Given the description of an element on the screen output the (x, y) to click on. 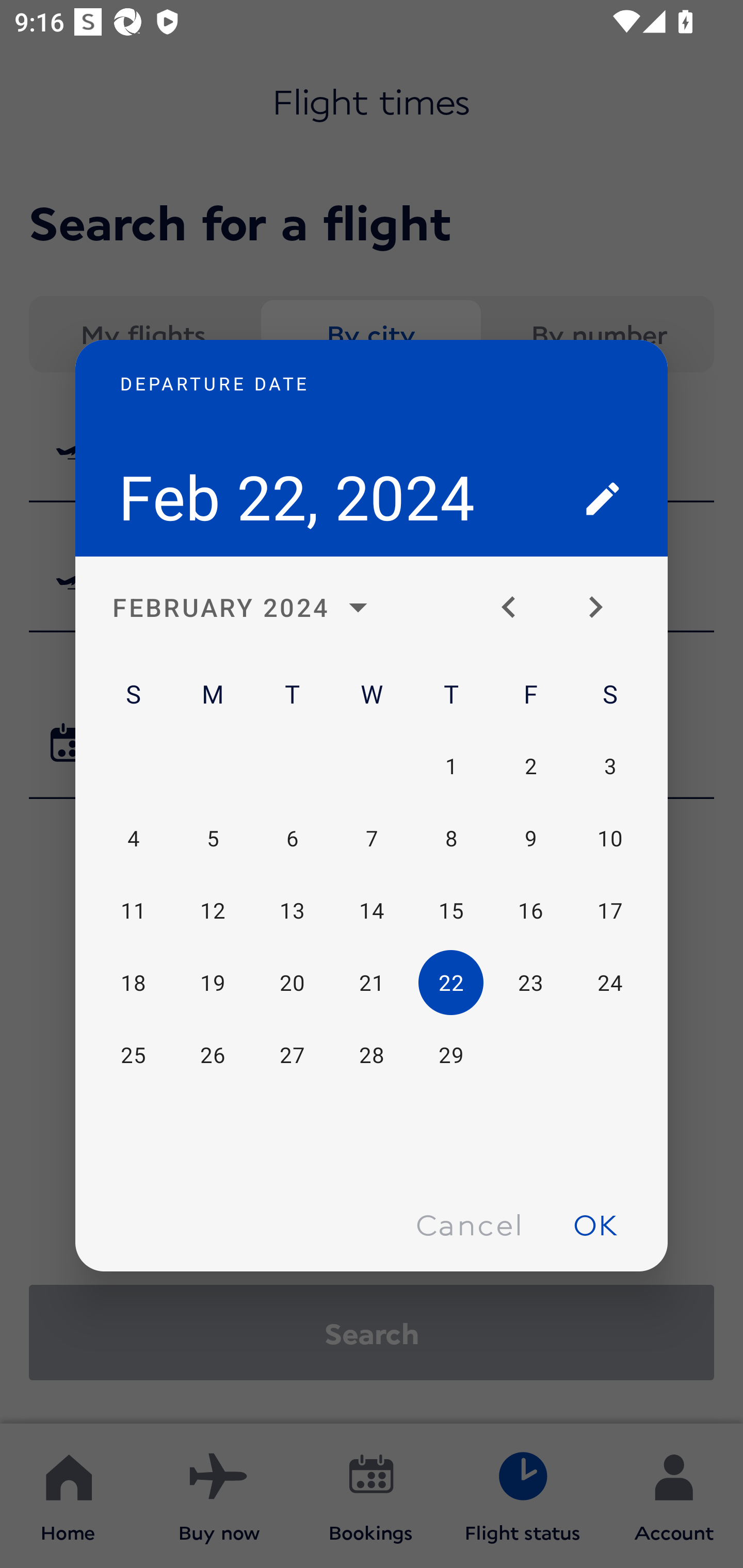
Switch to text input mode (602, 498)
FEBRUARY 2024 (245, 607)
Change to previous month (515, 607)
Change to next month (602, 607)
1 Thu, Feb 1 (450, 765)
2 Fri, Feb 2 (530, 765)
3 Sat, Feb 3 (609, 765)
4 Sun, Feb 4 (133, 838)
5 Mon, Feb 5 (212, 838)
6 Tue, Feb 6 (291, 838)
7 Wed, Feb 7 (371, 838)
8 Thu, Feb 8 (450, 838)
9 Fri, Feb 9 (530, 838)
10 Sat, Feb 10 (609, 838)
11 Sun, Feb 11 (133, 910)
12 Mon, Feb 12 (212, 910)
13 Tue, Feb 13 (291, 910)
14 Wed, Feb 14 (371, 910)
15 Thu, Feb 15 (450, 910)
16 Fri, Feb 16 (530, 910)
17 Sat, Feb 17 (609, 910)
18 Sun, Feb 18 (133, 983)
19 Mon, Feb 19 (212, 983)
20 Tue, Feb 20 (291, 983)
21 Wed, Feb 21 (371, 983)
22 Today Thu, Feb 22 (450, 983)
23 Fri, Feb 23 (530, 983)
24 Sat, Feb 24 (609, 983)
25 Sun, Feb 25 (133, 1055)
26 Mon, Feb 26 (212, 1055)
27 Tue, Feb 27 (291, 1055)
28 Wed, Feb 28 (371, 1055)
29 Thu, Feb 29 (450, 1055)
Cancel (468, 1224)
OK null, OK (595, 1224)
